Given the description of an element on the screen output the (x, y) to click on. 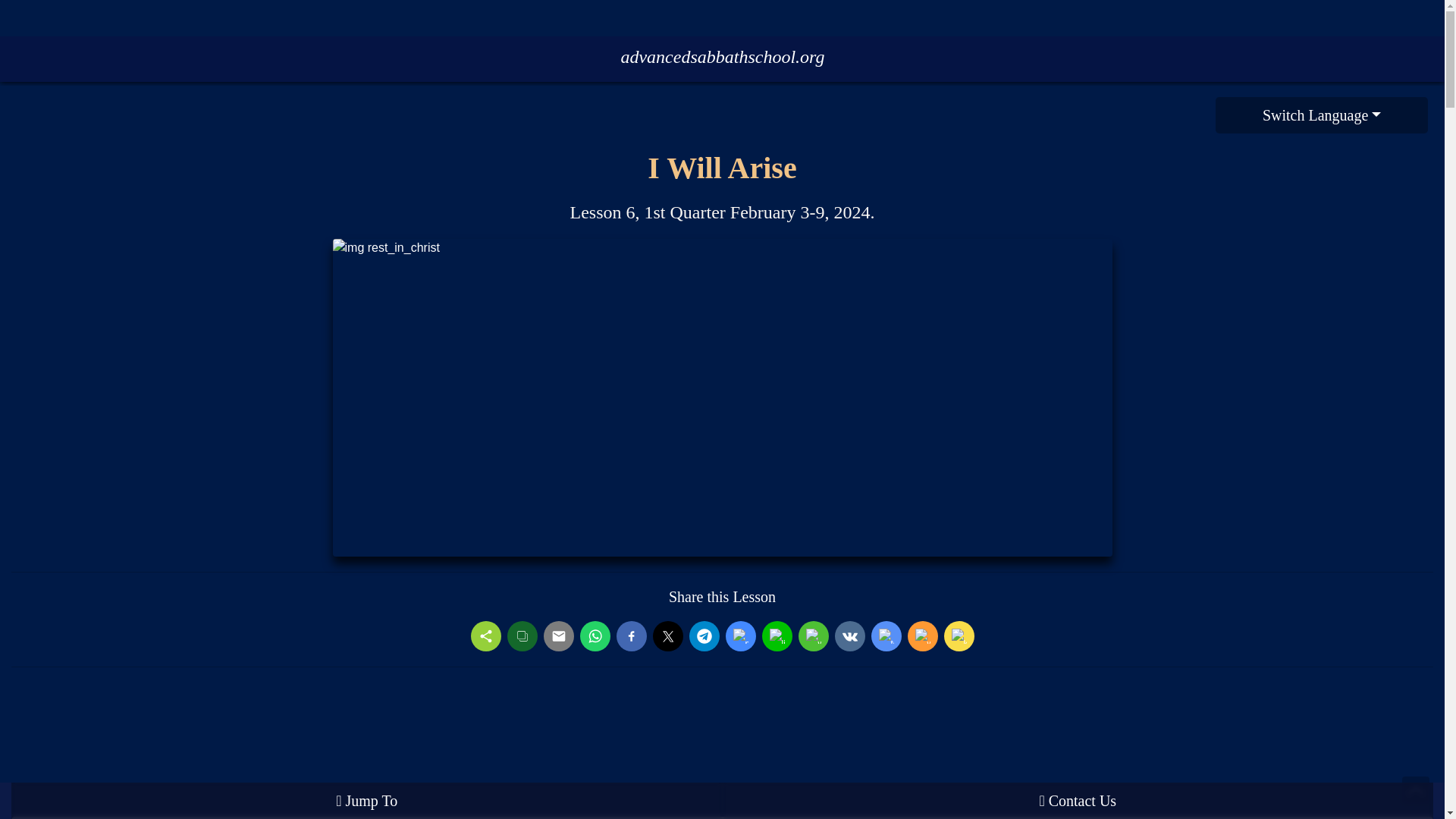
Switch Language (1321, 115)
Contact Us (1077, 800)
Jump To (366, 800)
